Given the description of an element on the screen output the (x, y) to click on. 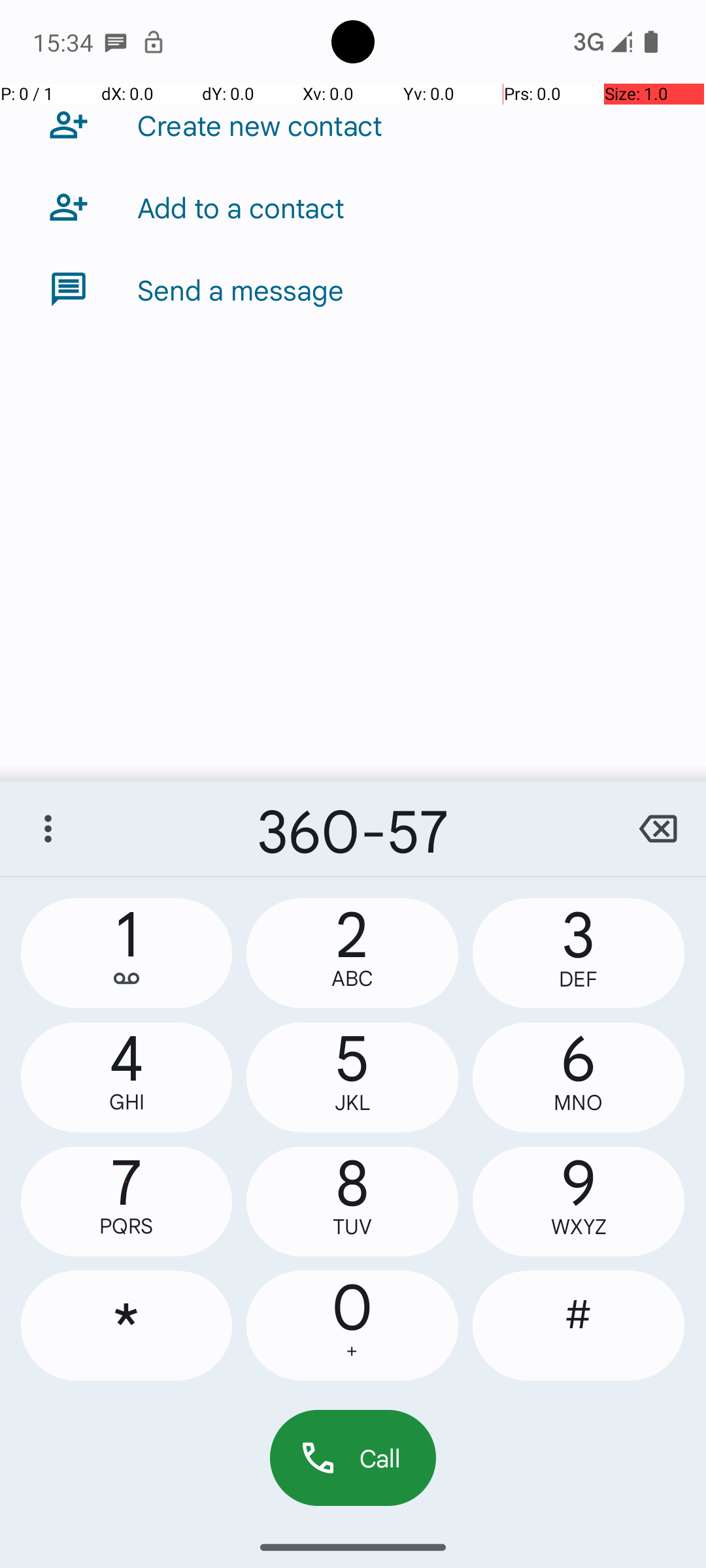
360-57 Element type: android.widget.EditText (352, 828)
